Given the description of an element on the screen output the (x, y) to click on. 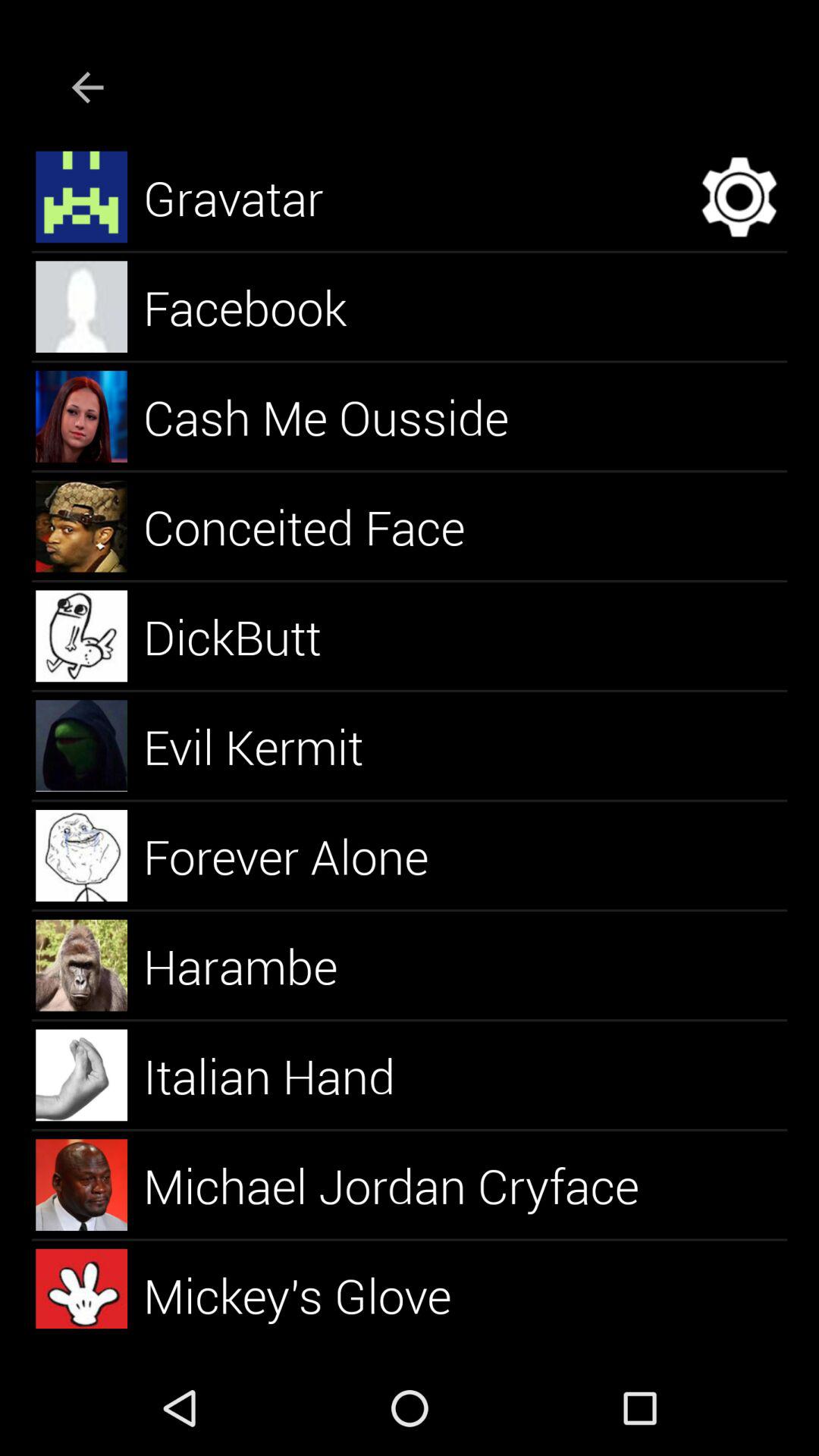
scroll until the italian hand icon (287, 1074)
